Given the description of an element on the screen output the (x, y) to click on. 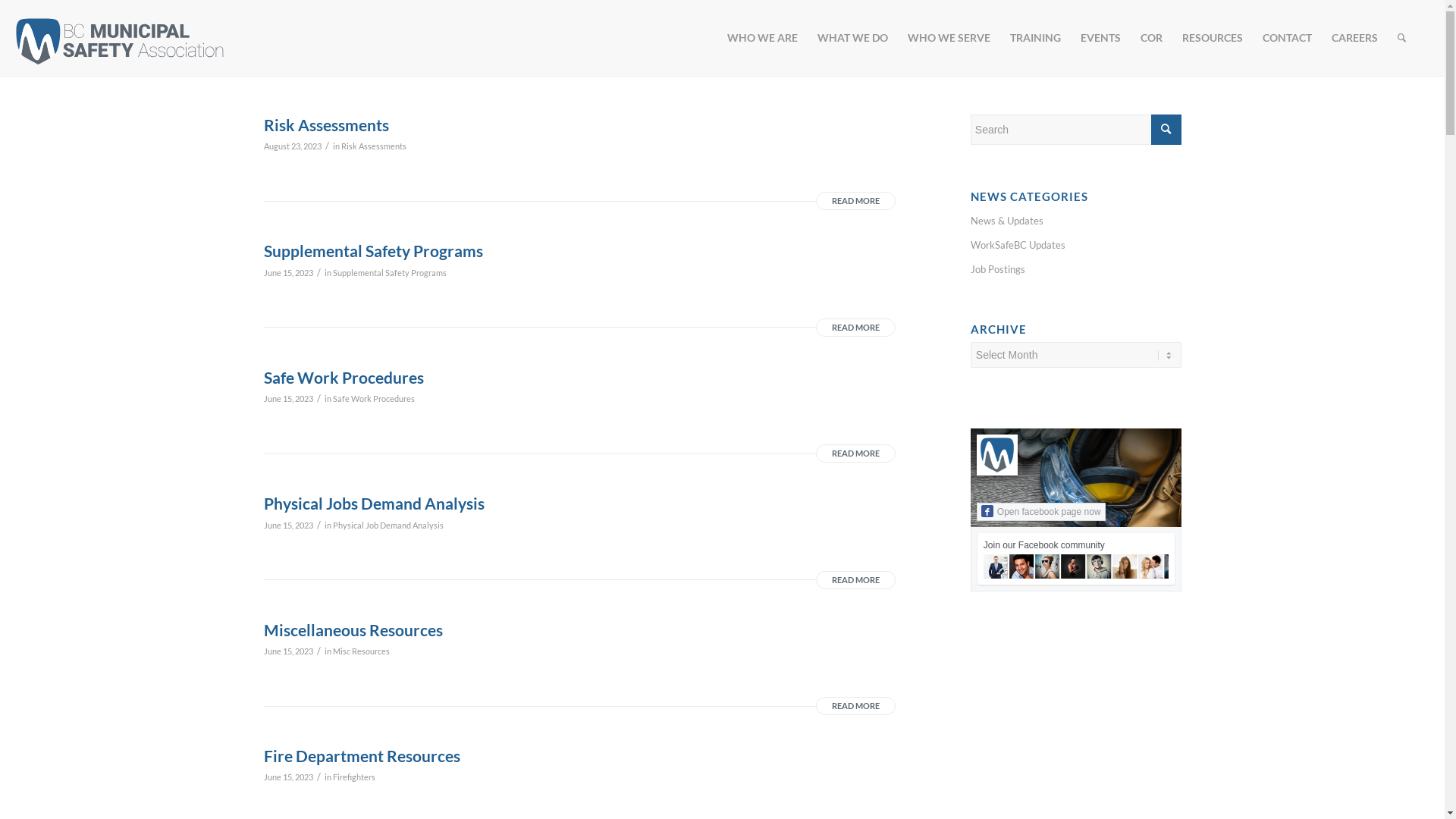
READ MORE Element type: text (855, 580)
READ MORE Element type: text (855, 705)
News & Updates Element type: text (1075, 221)
Safe Work Procedures Element type: text (343, 376)
READ MORE Element type: text (855, 327)
READ MORE Element type: text (855, 200)
Firefighters Element type: text (353, 776)
Open facebook page now Element type: text (1040, 511)
Supplemental Safety Programs Element type: text (388, 272)
Risk Assessments Element type: text (326, 124)
Physical Job Demand Analysis Element type: text (387, 525)
Misc Resources Element type: text (360, 650)
Physical Jobs Demand Analysis Element type: text (373, 502)
bcmsa-logo2 Element type: hover (119, 40)
Fire Department Resources Element type: text (361, 755)
WorkSafeBC Updates Element type: text (1075, 245)
COR Element type: text (1151, 37)
TRAINING Element type: text (1035, 37)
CONTACT Element type: text (1286, 37)
WHO WE SERVE Element type: text (948, 37)
Risk Assessments Element type: text (373, 145)
WHAT WE DO Element type: text (852, 37)
Miscellaneous Resources Element type: text (352, 629)
Job Postings Element type: text (1075, 269)
CAREERS Element type: text (1354, 37)
RESOURCES Element type: text (1212, 37)
Supplemental Safety Programs Element type: text (373, 250)
READ MORE Element type: text (855, 453)
EVENTS Element type: text (1100, 37)
WHO WE ARE Element type: text (762, 37)
bcmsa-logo2 Element type: hover (119, 40)
Safe Work Procedures Element type: text (373, 398)
